Given the description of an element on the screen output the (x, y) to click on. 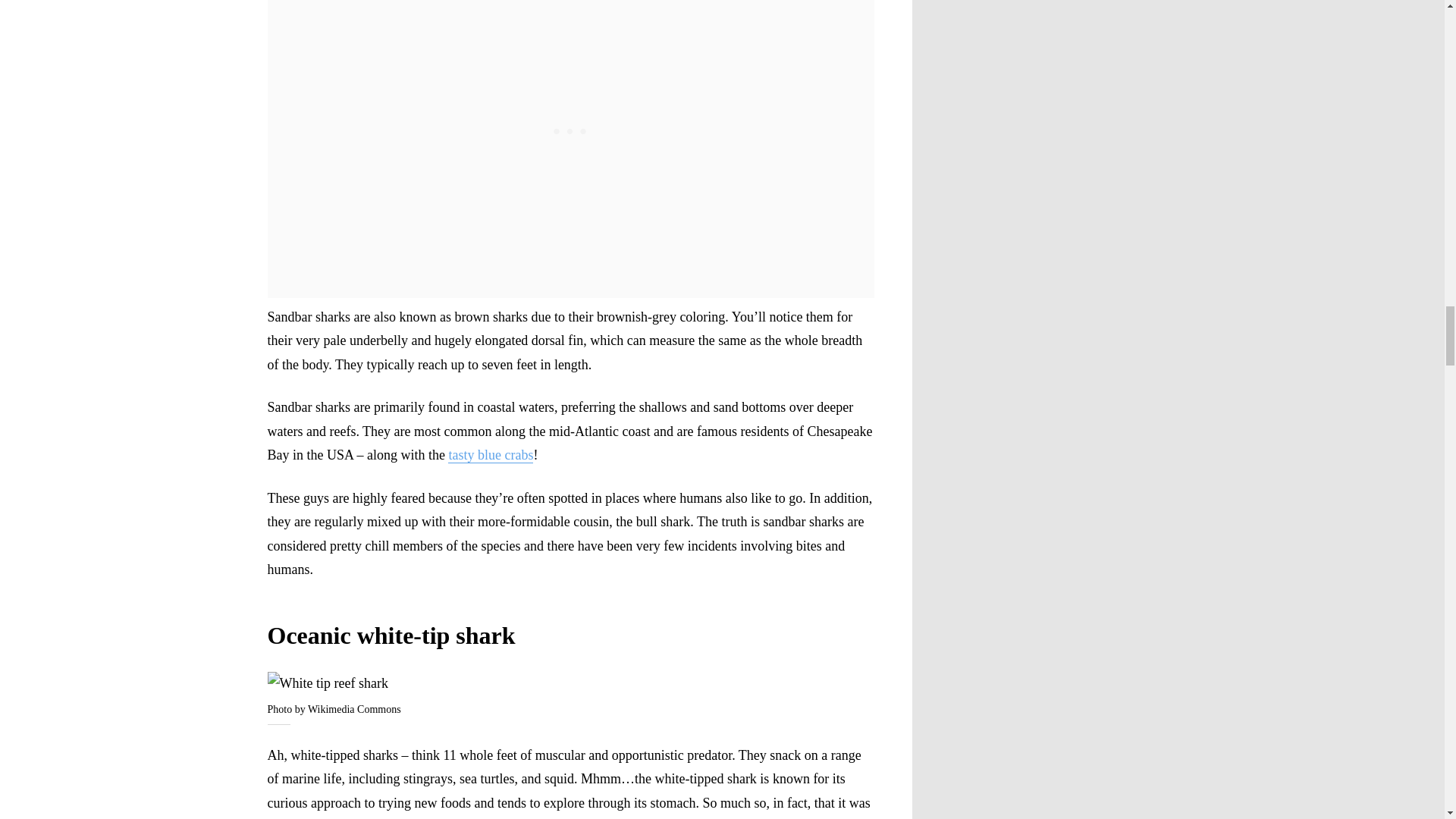
tasty blue crabs (490, 454)
